Given the description of an element on the screen output the (x, y) to click on. 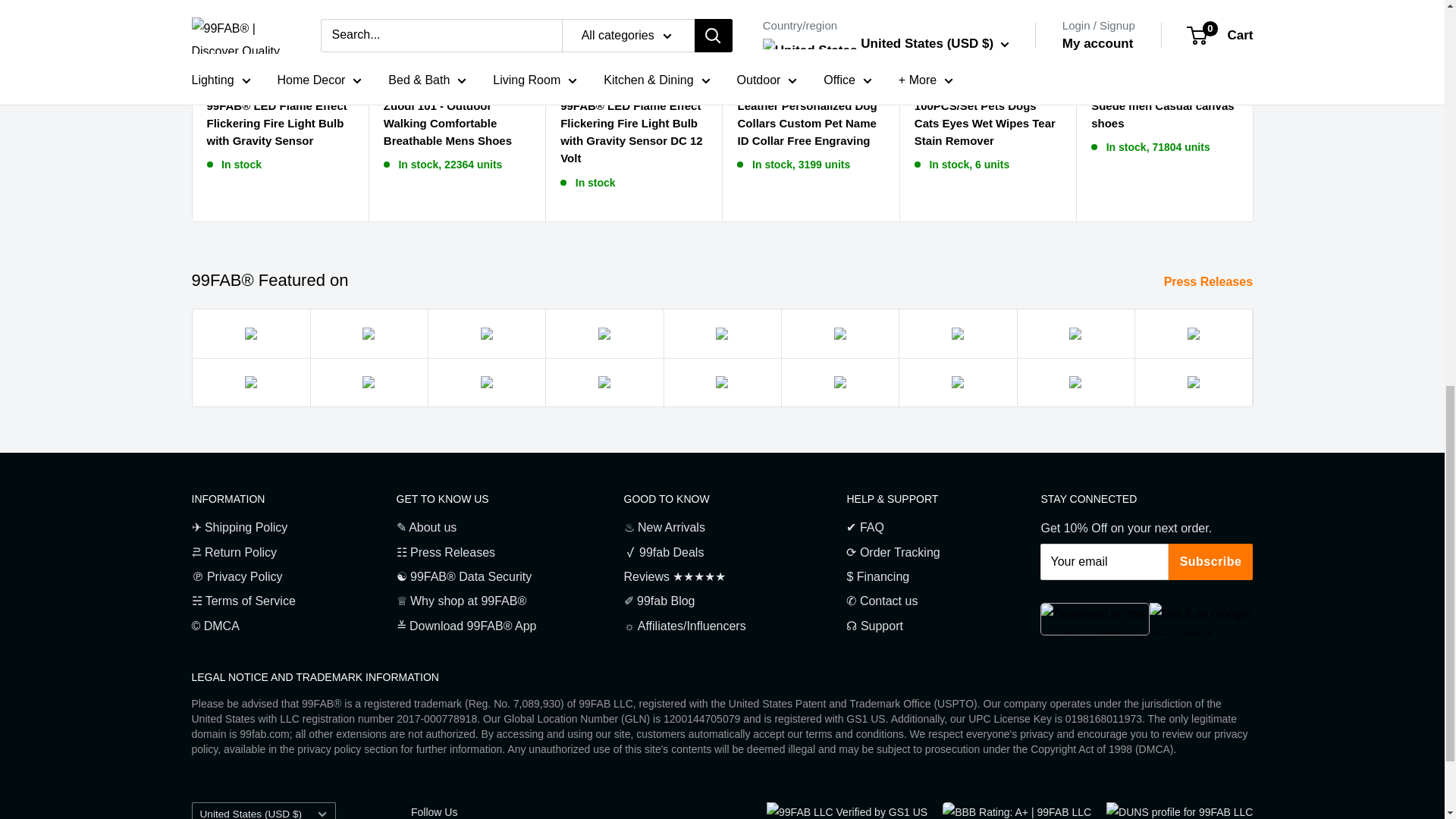
DUNS profile for 99FAB LLC (1179, 810)
Download on the App Store (1095, 618)
99FAB LLC Verified by GS1 US (847, 810)
Get it on Google Play (1201, 618)
